Given the description of an element on the screen output the (x, y) to click on. 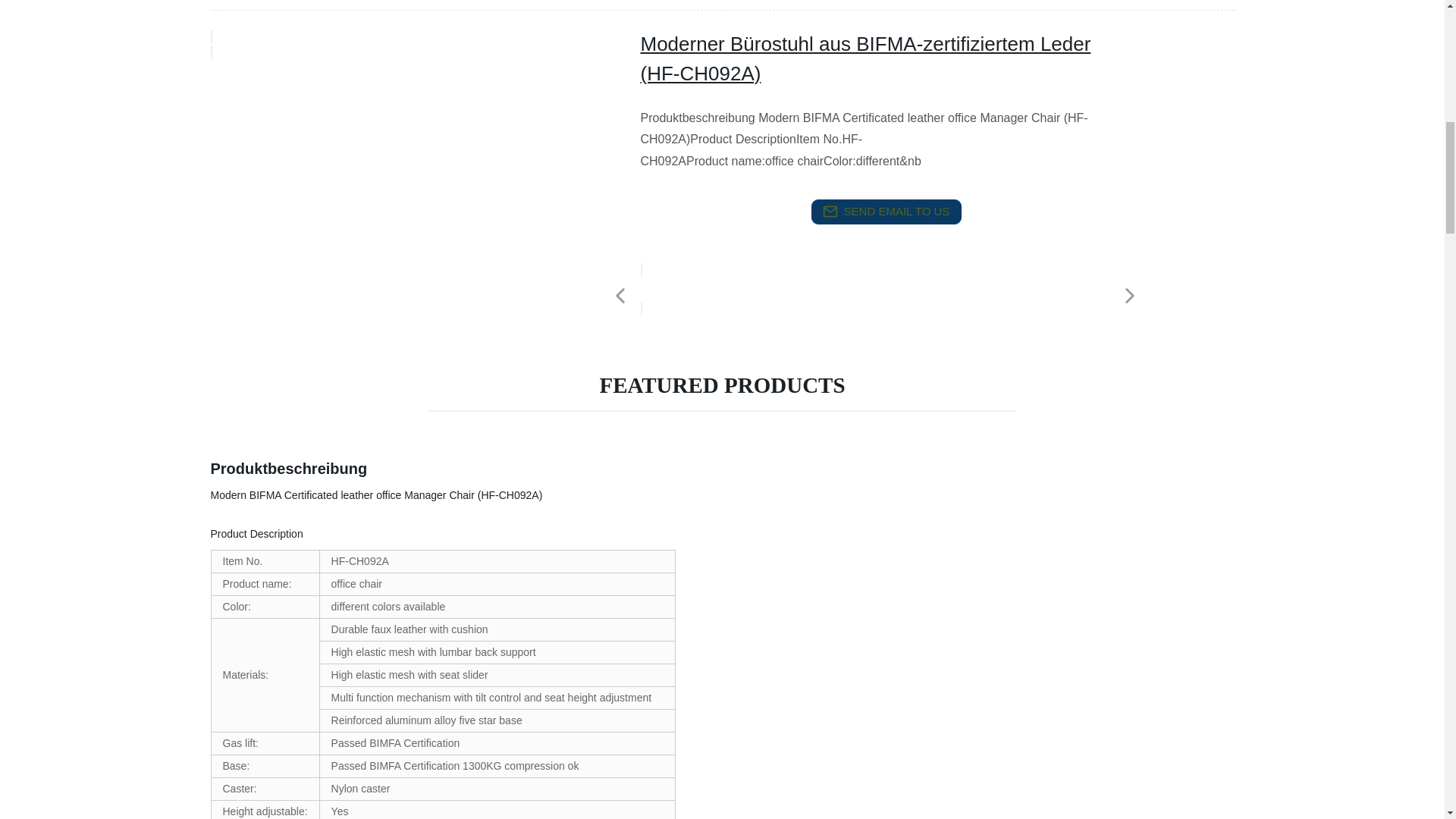
SEND EMAIL TO US (885, 211)
